Given the description of an element on the screen output the (x, y) to click on. 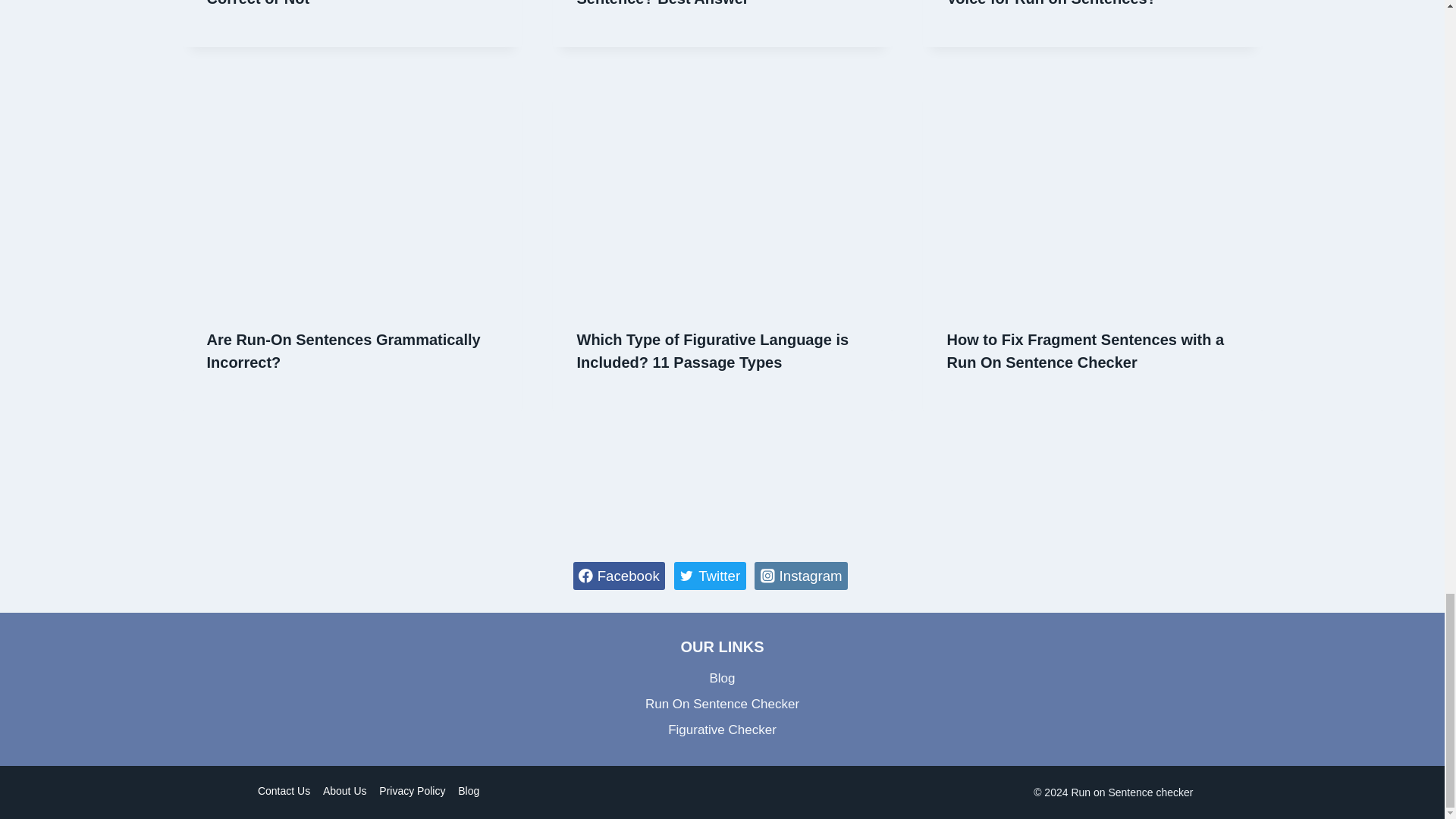
How to Check Run on Sentence is Correct or Not (328, 3)
What is Comma Splice in Run On Sentence? Best Answer (695, 3)
Run On Sentence Checker (722, 704)
Twitter (709, 575)
Instagram (800, 575)
Blog (722, 678)
Are Run-On Sentences Grammatically Incorrect? (343, 351)
How to Fix Fragment Sentences with a Run On Sentence Checker (1085, 351)
Figurative Checker (722, 729)
Facebook (619, 575)
